Given the description of an element on the screen output the (x, y) to click on. 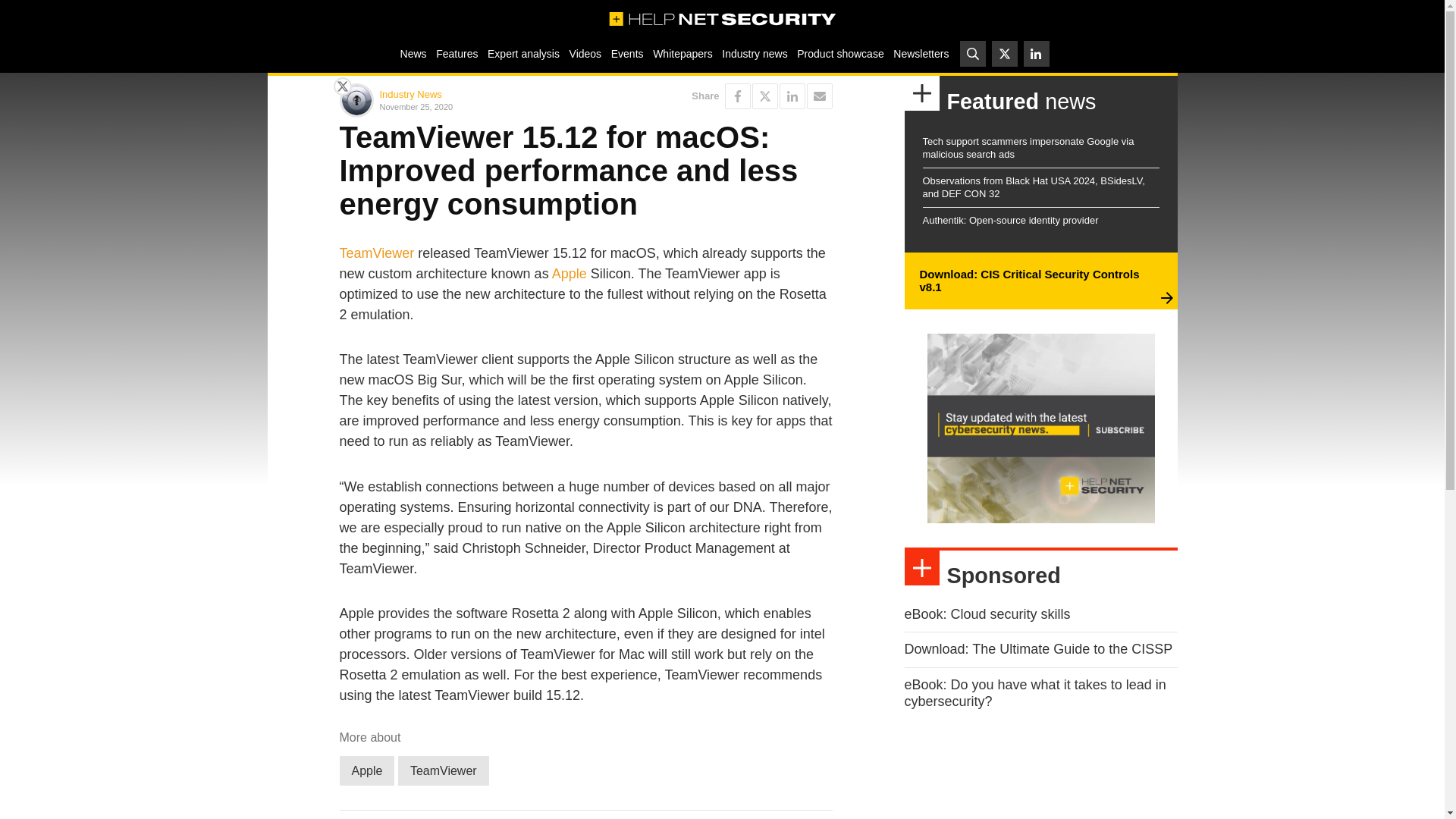
Industry news (754, 53)
Industry News (409, 93)
Download: The Ultimate Guide to the CISSP (1038, 648)
News (412, 53)
Apple (568, 273)
eBook: Do you have what it takes to lead in cybersecurity? (1035, 693)
Expert analysis (523, 53)
Events (626, 53)
